Given the description of an element on the screen output the (x, y) to click on. 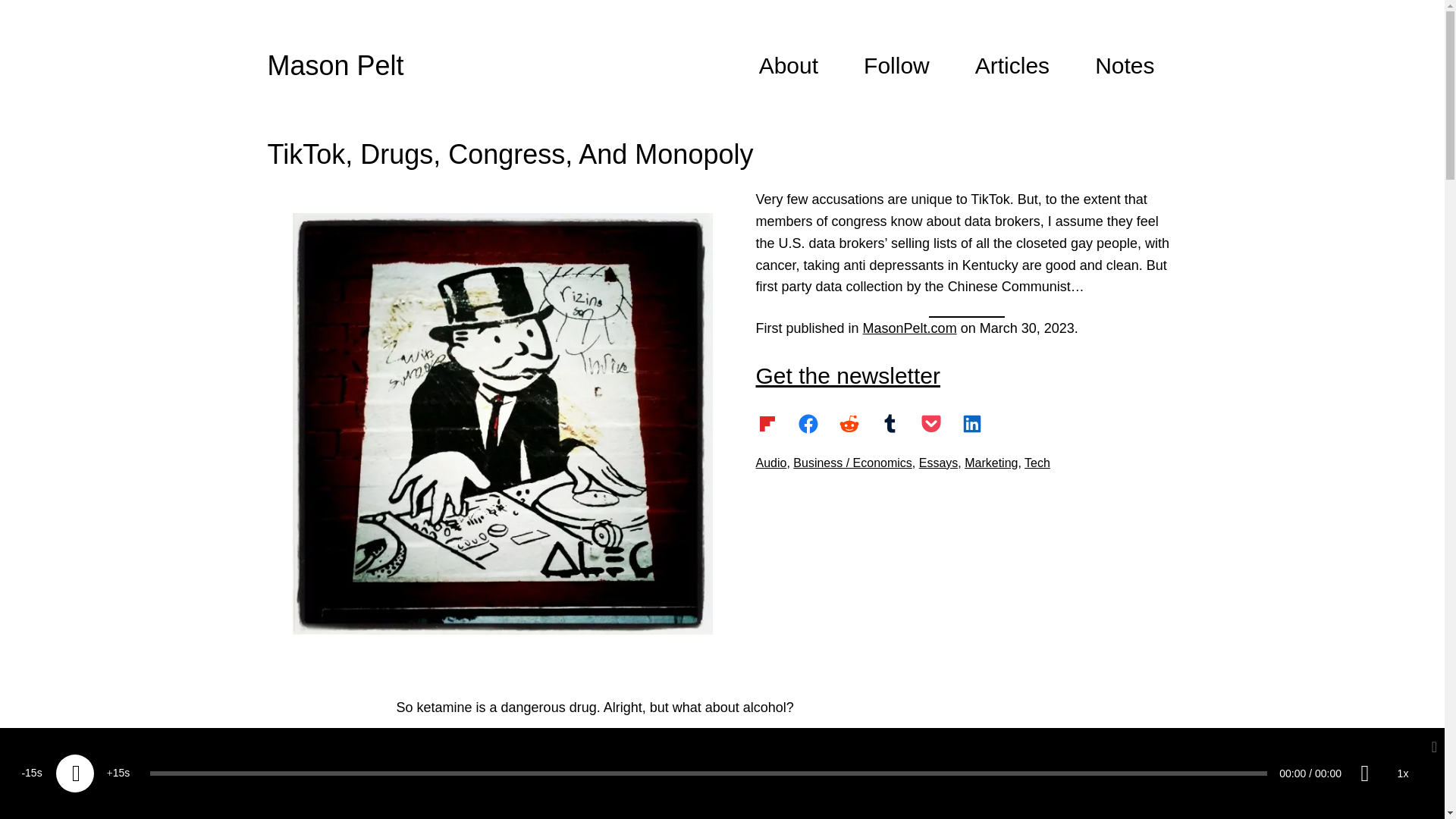
Tech (1037, 462)
MasonPelt.com (909, 328)
Share on Reddit (848, 423)
Share on Tumblr (889, 423)
Mason Pelt (334, 65)
Audio (770, 462)
Articles (1011, 65)
Get the newsletter (847, 375)
Share on Facebook (807, 423)
Share on Flipboard (766, 423)
About (788, 65)
Follow (896, 65)
Jump forward 15 seconds (118, 773)
Essays (938, 462)
Speed Rate (1403, 773)
